Given the description of an element on the screen output the (x, y) to click on. 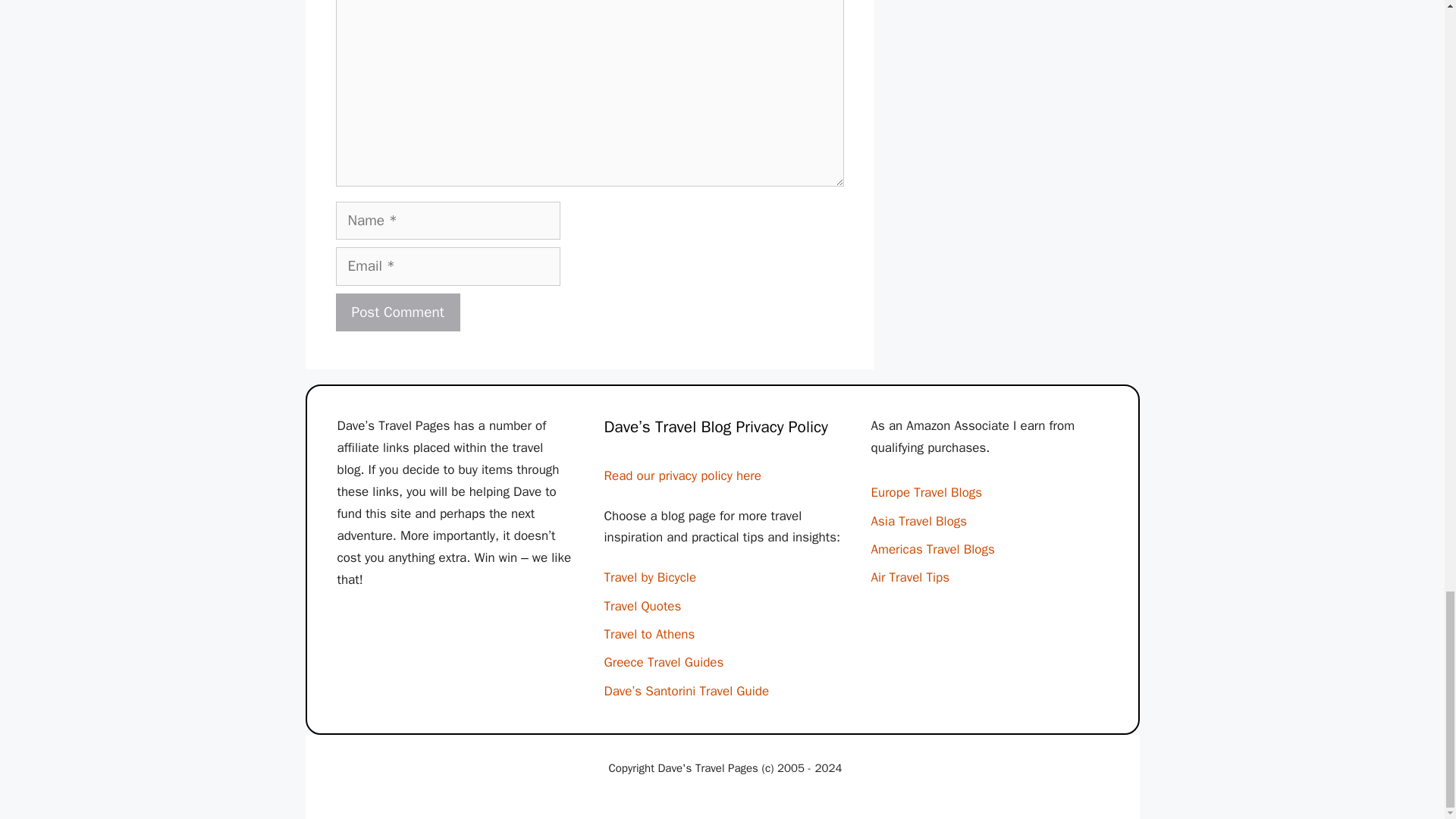
Post Comment (397, 312)
Post Comment (397, 312)
